Given the description of an element on the screen output the (x, y) to click on. 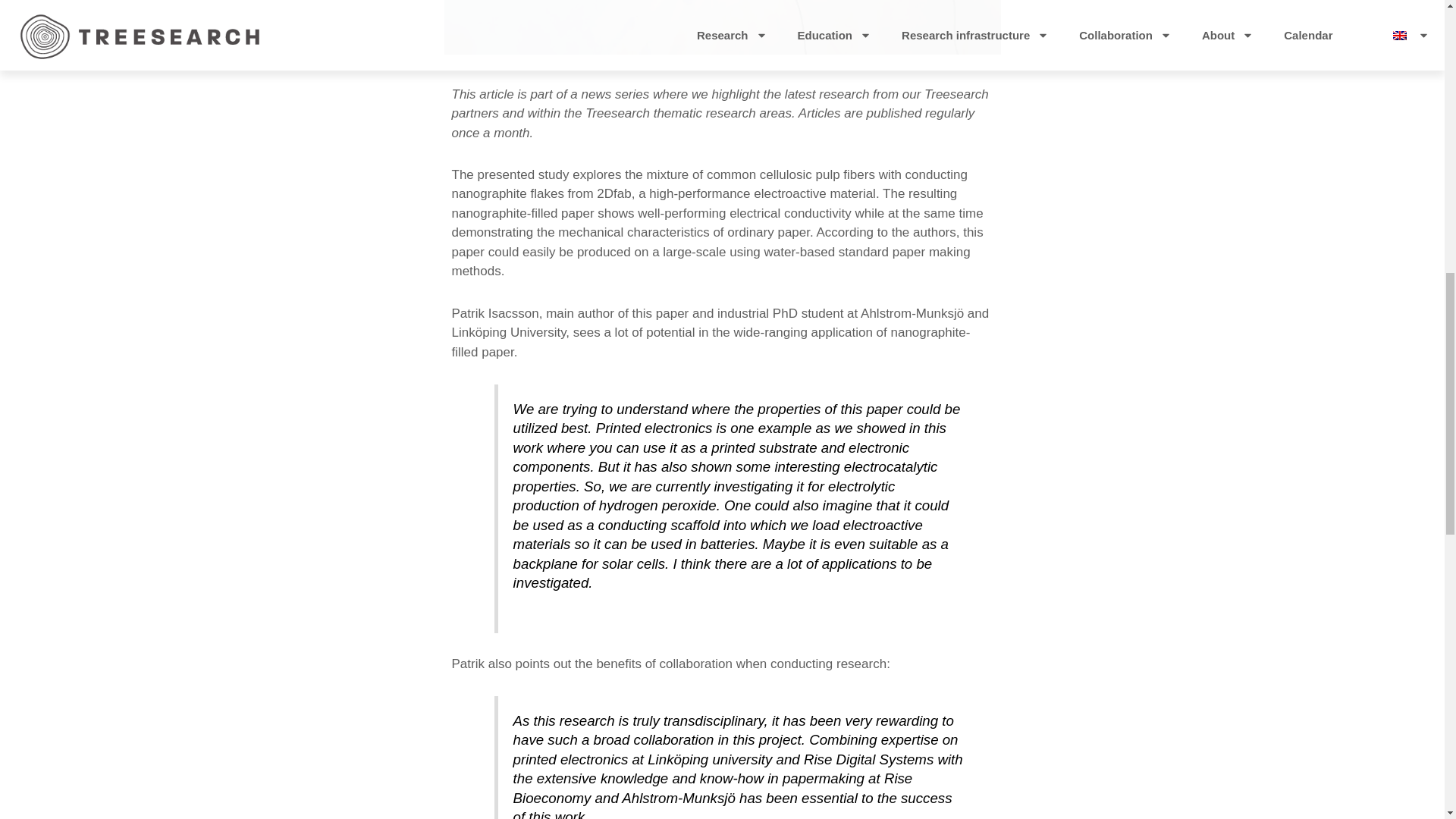
Nanographite paper (722, 27)
